Given the description of an element on the screen output the (x, y) to click on. 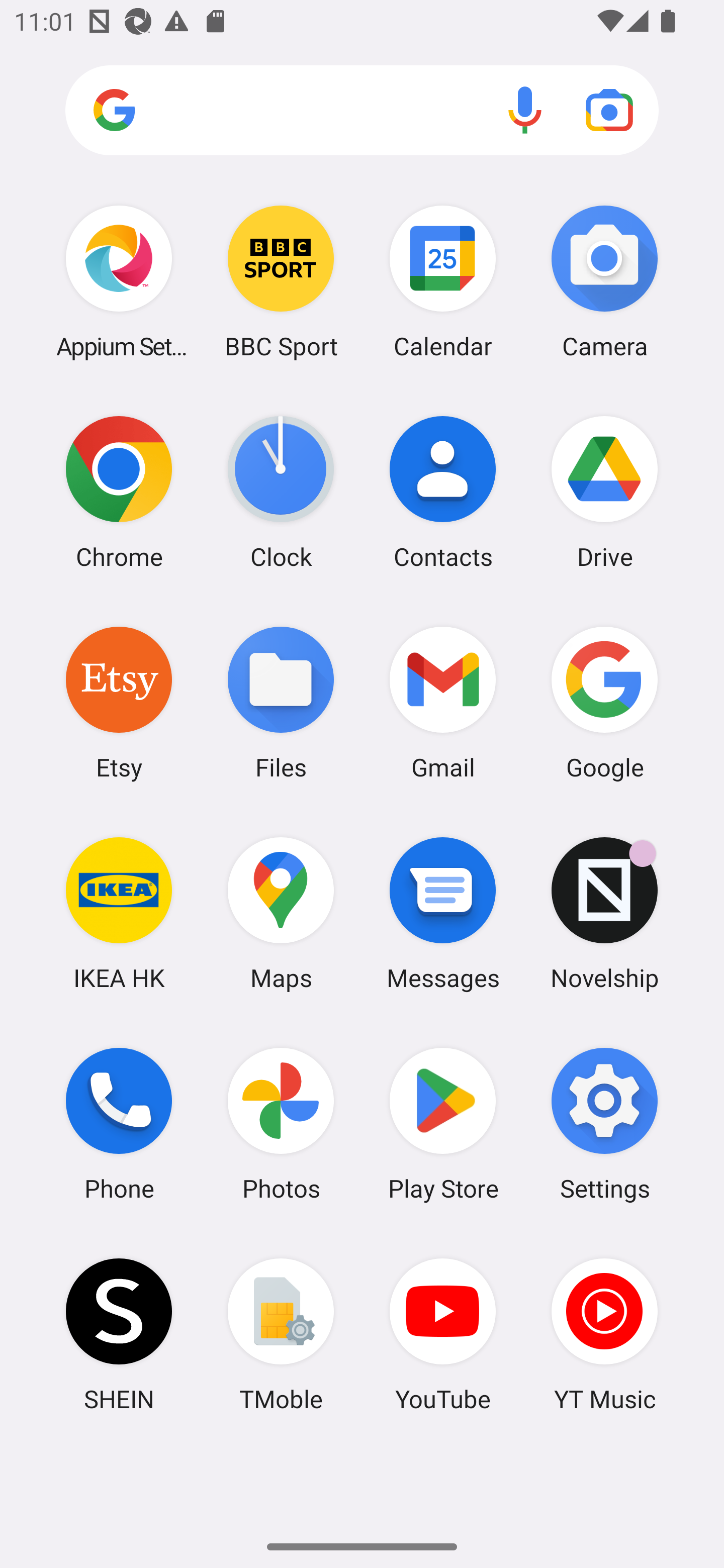
Search apps, web and more (361, 110)
Voice search (524, 109)
Google Lens (608, 109)
Appium Settings (118, 281)
BBC Sport (280, 281)
Calendar (443, 281)
Camera (604, 281)
Chrome (118, 492)
Clock (280, 492)
Contacts (443, 492)
Drive (604, 492)
Etsy (118, 702)
Files (280, 702)
Gmail (443, 702)
Google (604, 702)
IKEA HK (118, 913)
Maps (280, 913)
Messages (443, 913)
Novelship Novelship has 2 notifications (604, 913)
Phone (118, 1124)
Photos (280, 1124)
Play Store (443, 1124)
Settings (604, 1124)
SHEIN (118, 1334)
TMoble (280, 1334)
YouTube (443, 1334)
YT Music (604, 1334)
